Given the description of an element on the screen output the (x, y) to click on. 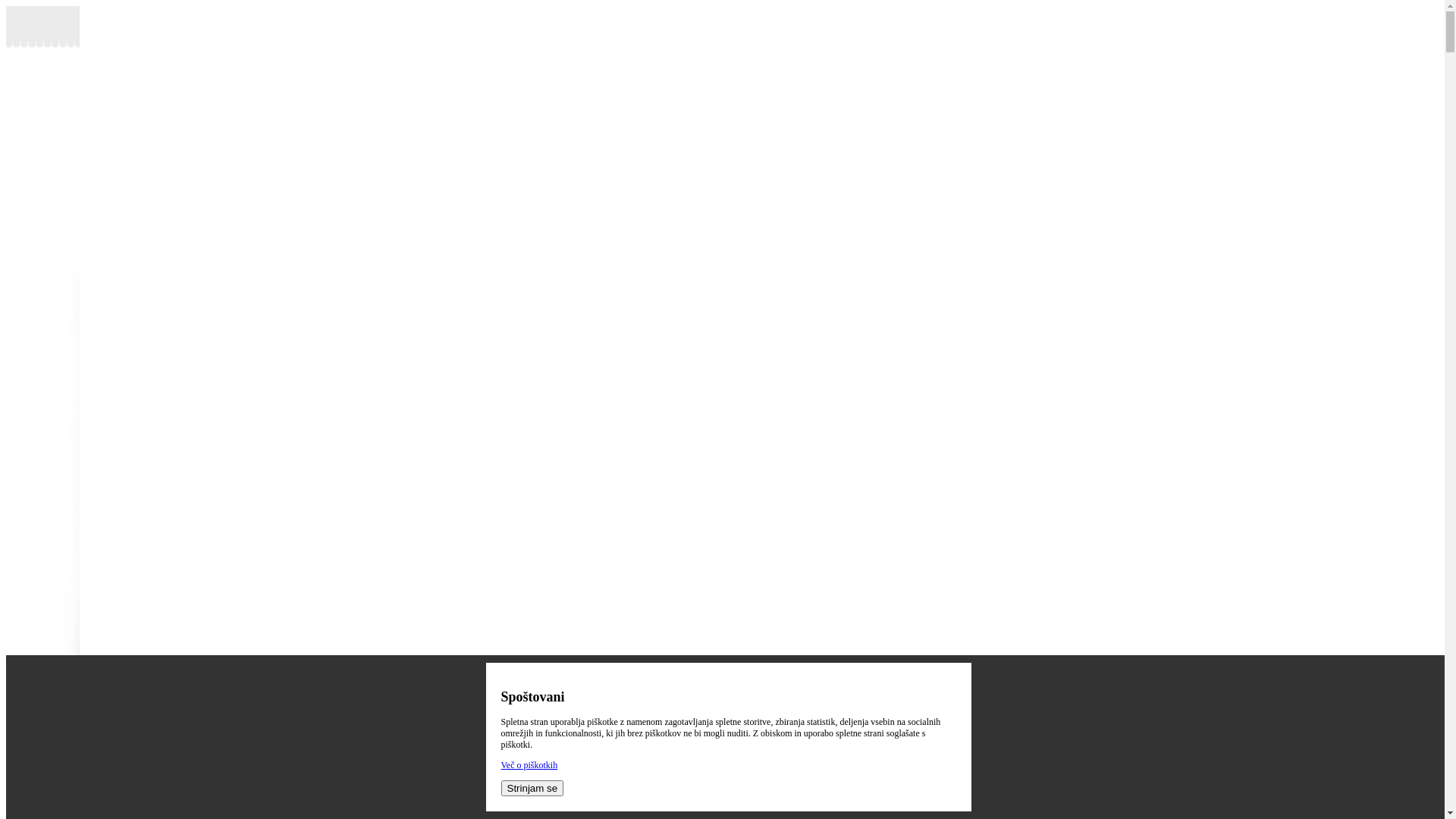
Strinjam se Element type: text (531, 788)
